Given the description of an element on the screen output the (x, y) to click on. 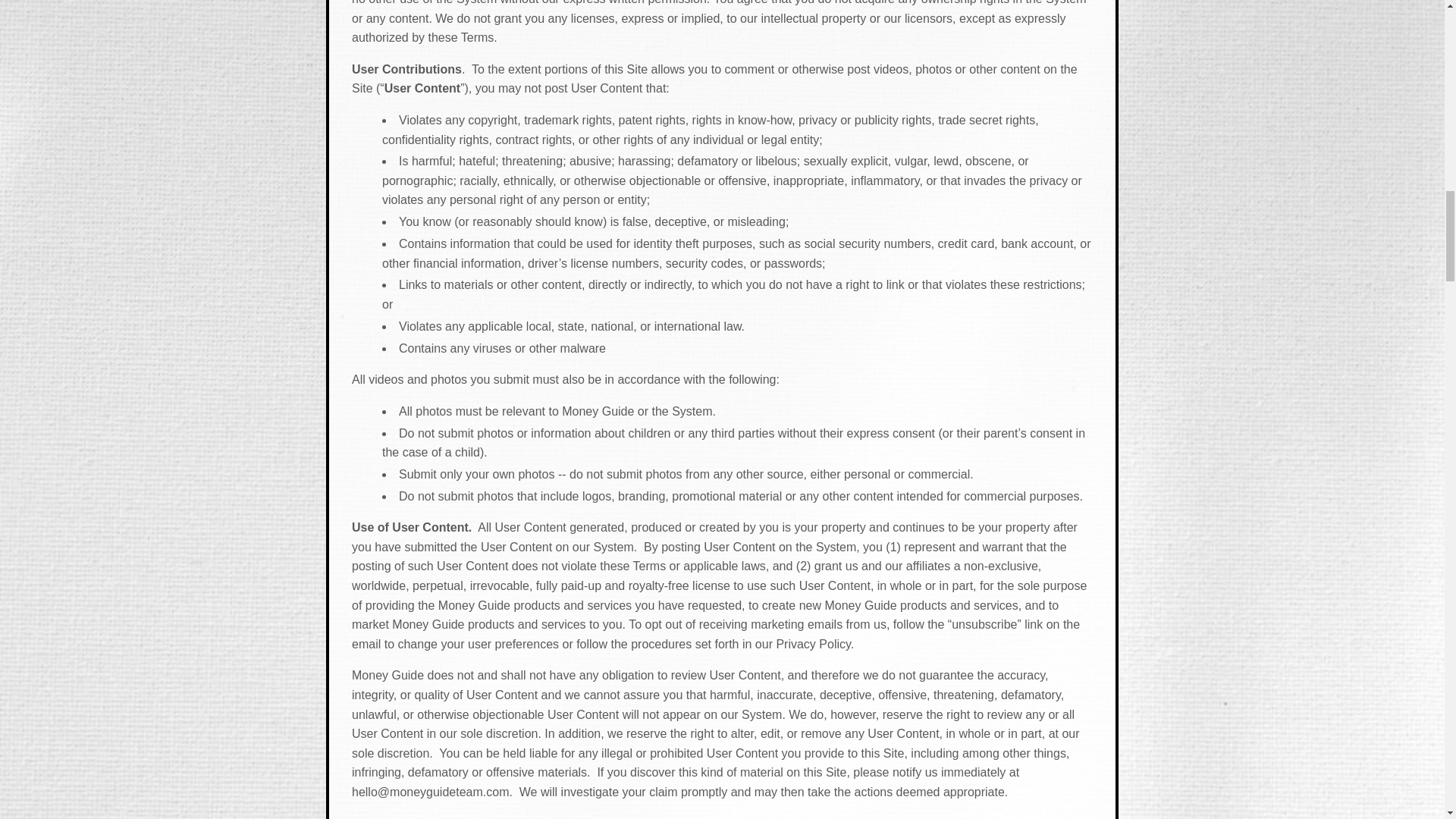
Privacy Policy (813, 644)
